Given the description of an element on the screen output the (x, y) to click on. 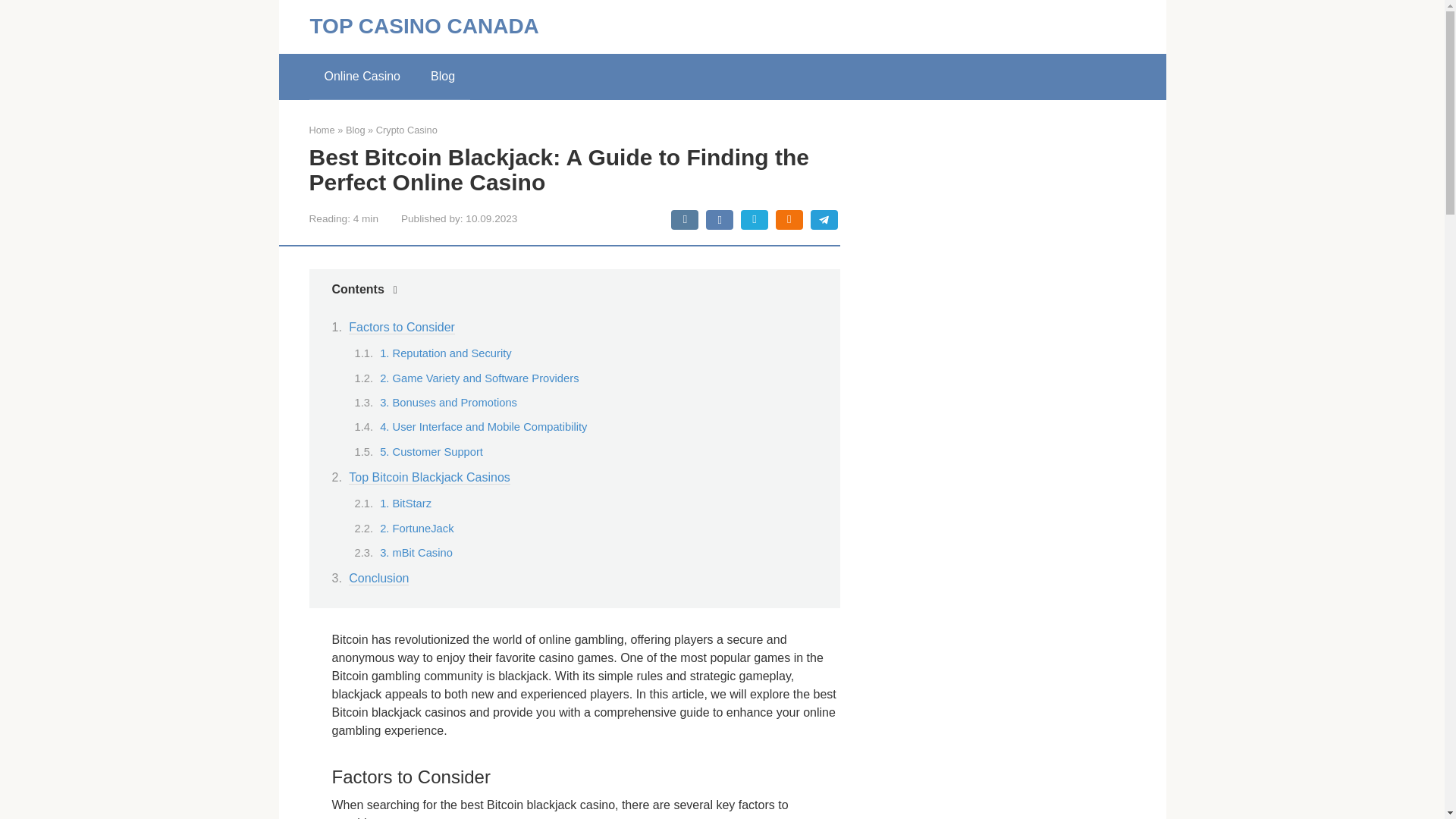
Conclusion (379, 578)
4. User Interface and Mobile Compatibility (483, 426)
3. Bonuses and Promotions (448, 402)
2. FortuneJack (416, 528)
Blog (355, 129)
Factors to Consider (401, 327)
TOP CASINO CANADA (423, 25)
1. Reputation and Security (445, 353)
Online Casino (362, 76)
2. Game Variety and Software Providers (479, 378)
